Given the description of an element on the screen output the (x, y) to click on. 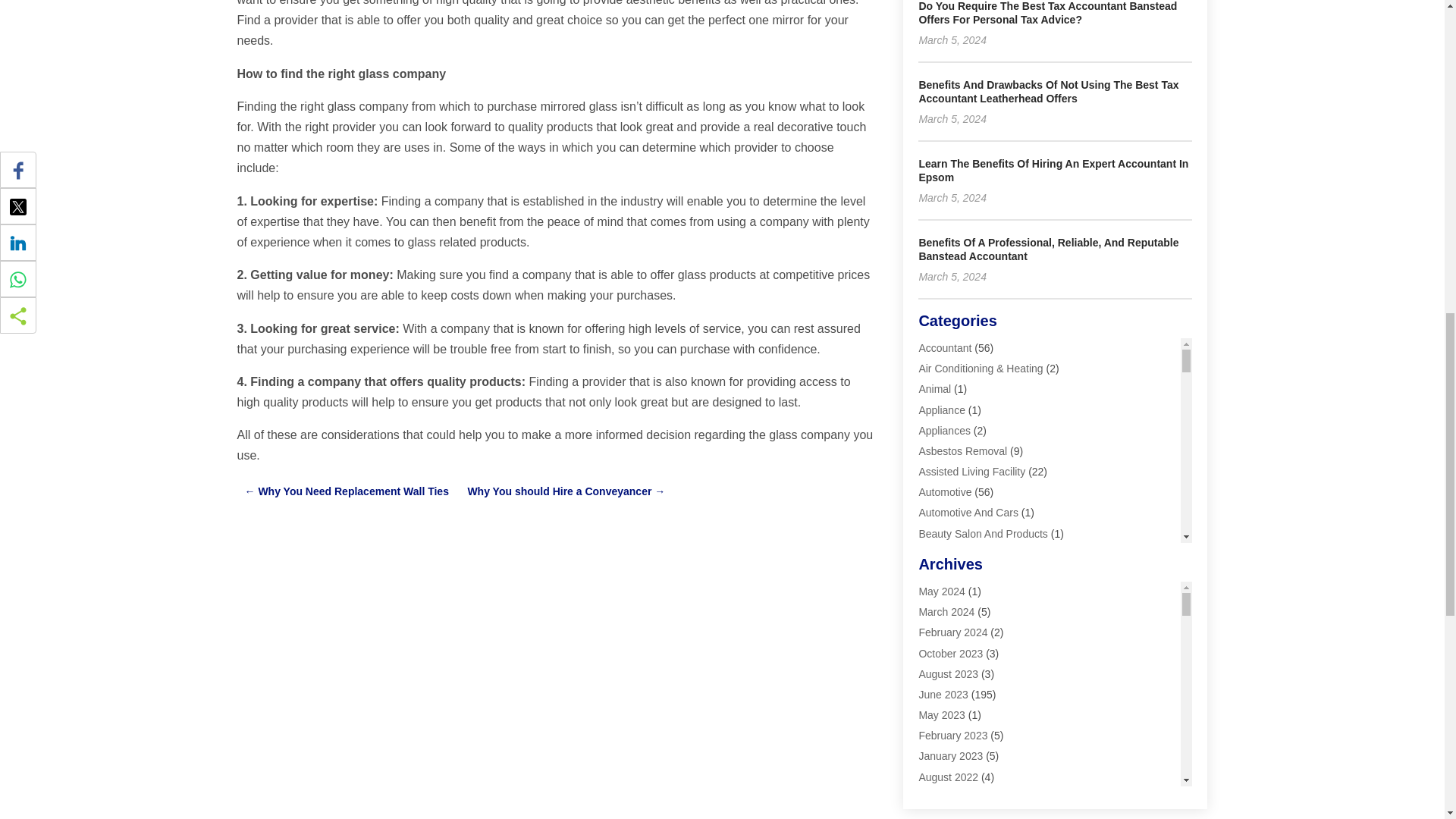
Boiler Service (951, 574)
Business And Management (982, 636)
Animal (934, 388)
Business (939, 615)
Beauty Salon And Products (982, 533)
Builders (937, 594)
Assisted Living Facility (971, 471)
Appliances (944, 430)
